Given the description of an element on the screen output the (x, y) to click on. 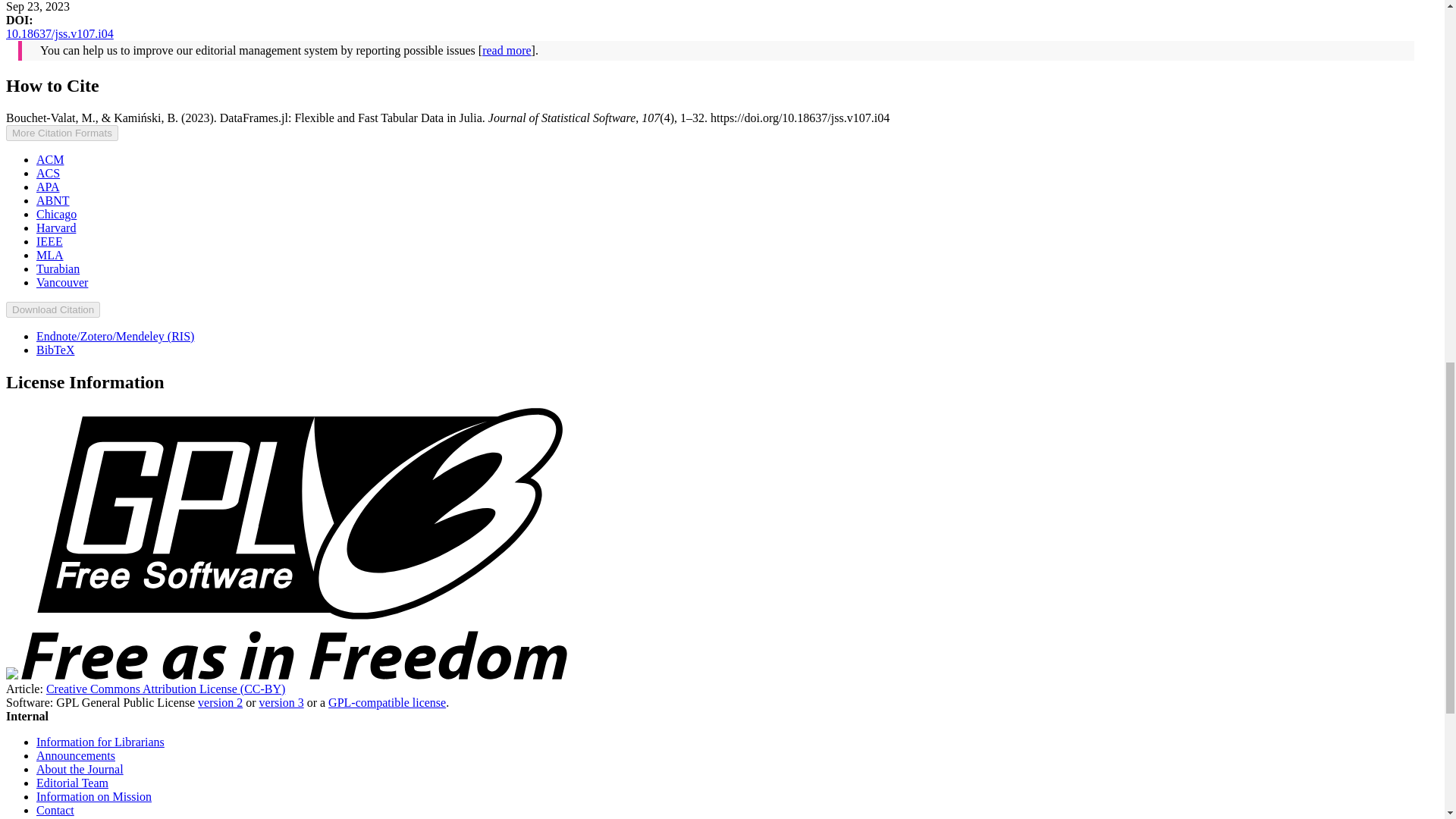
More Citation Formats (61, 132)
APA (47, 186)
ACM (50, 159)
ACS (47, 173)
Chicago (56, 214)
read more (506, 50)
ABNT (52, 200)
